Given the description of an element on the screen output the (x, y) to click on. 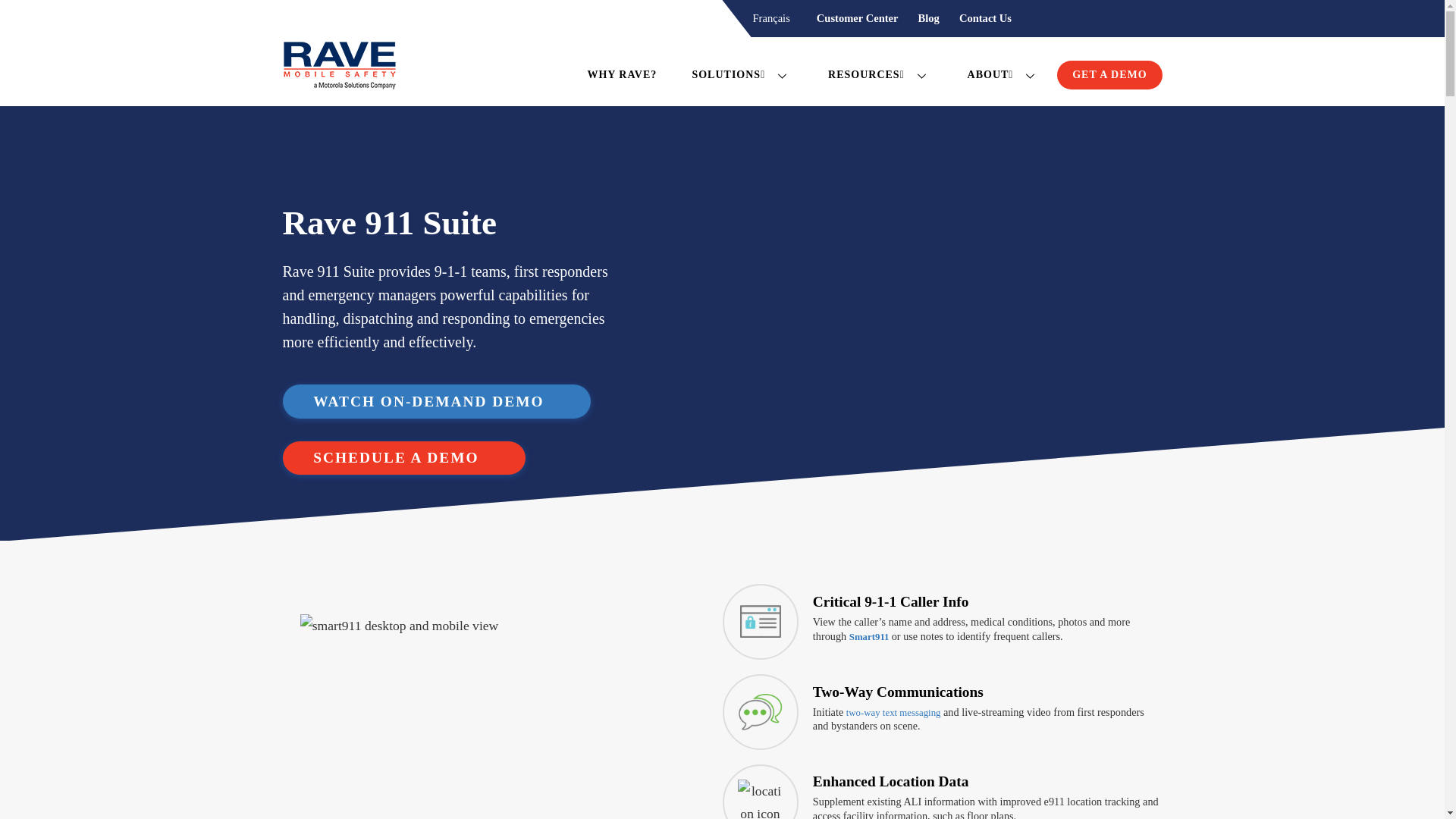
Blog (928, 18)
SOLUTIONS (742, 74)
Rave Mobile Safety (339, 71)
Contact Us (985, 18)
Rave-Logo-MSI-150 (339, 64)
smart-911-desktop-mobile-dashboard (501, 716)
Search (1141, 19)
Customer Center (857, 18)
WHY RAVE? (795, 70)
